Given the description of an element on the screen output the (x, y) to click on. 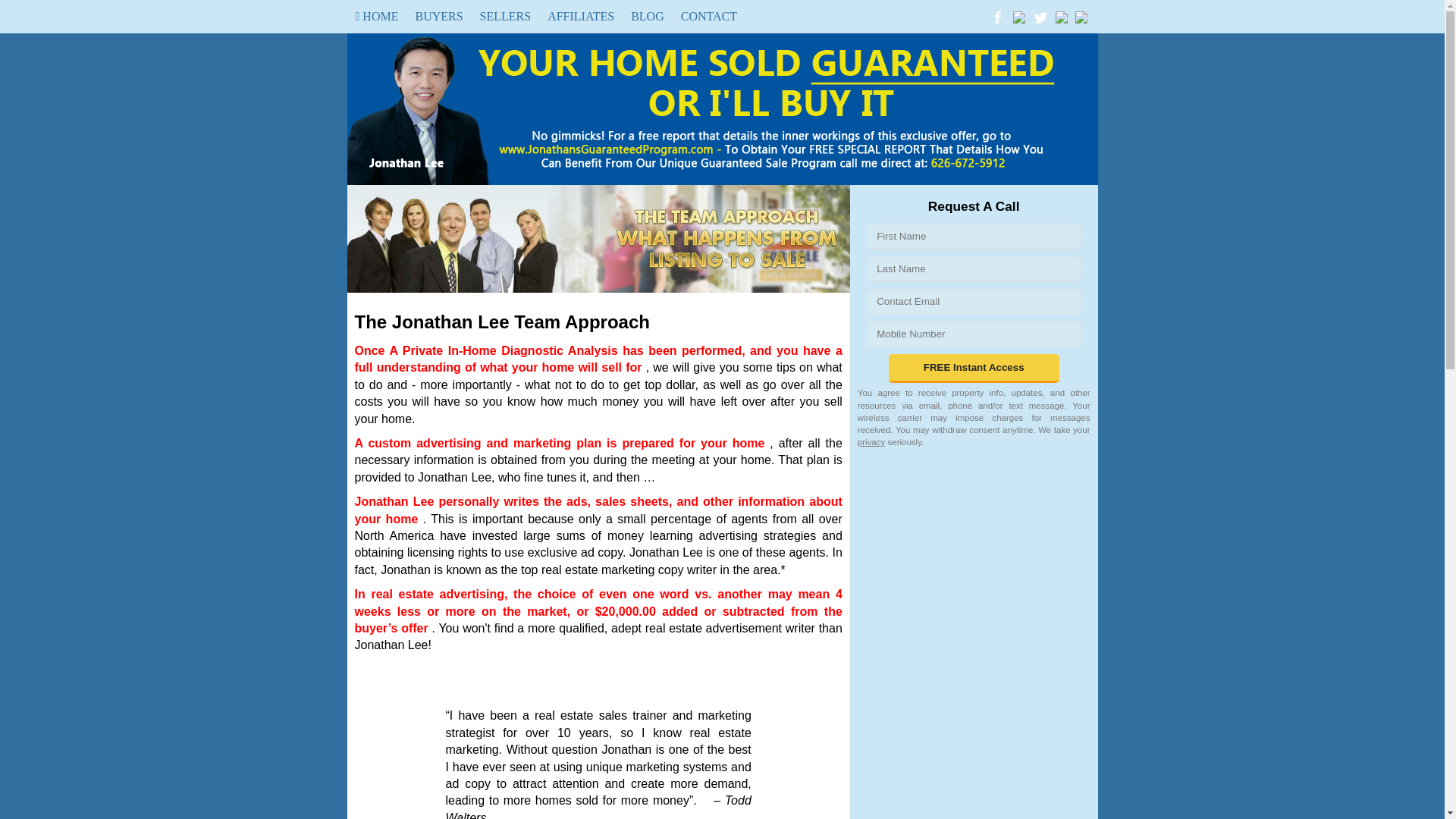
FREE Instant Access (973, 368)
BUYERS (438, 16)
 HOME (377, 16)
